Given the description of an element on the screen output the (x, y) to click on. 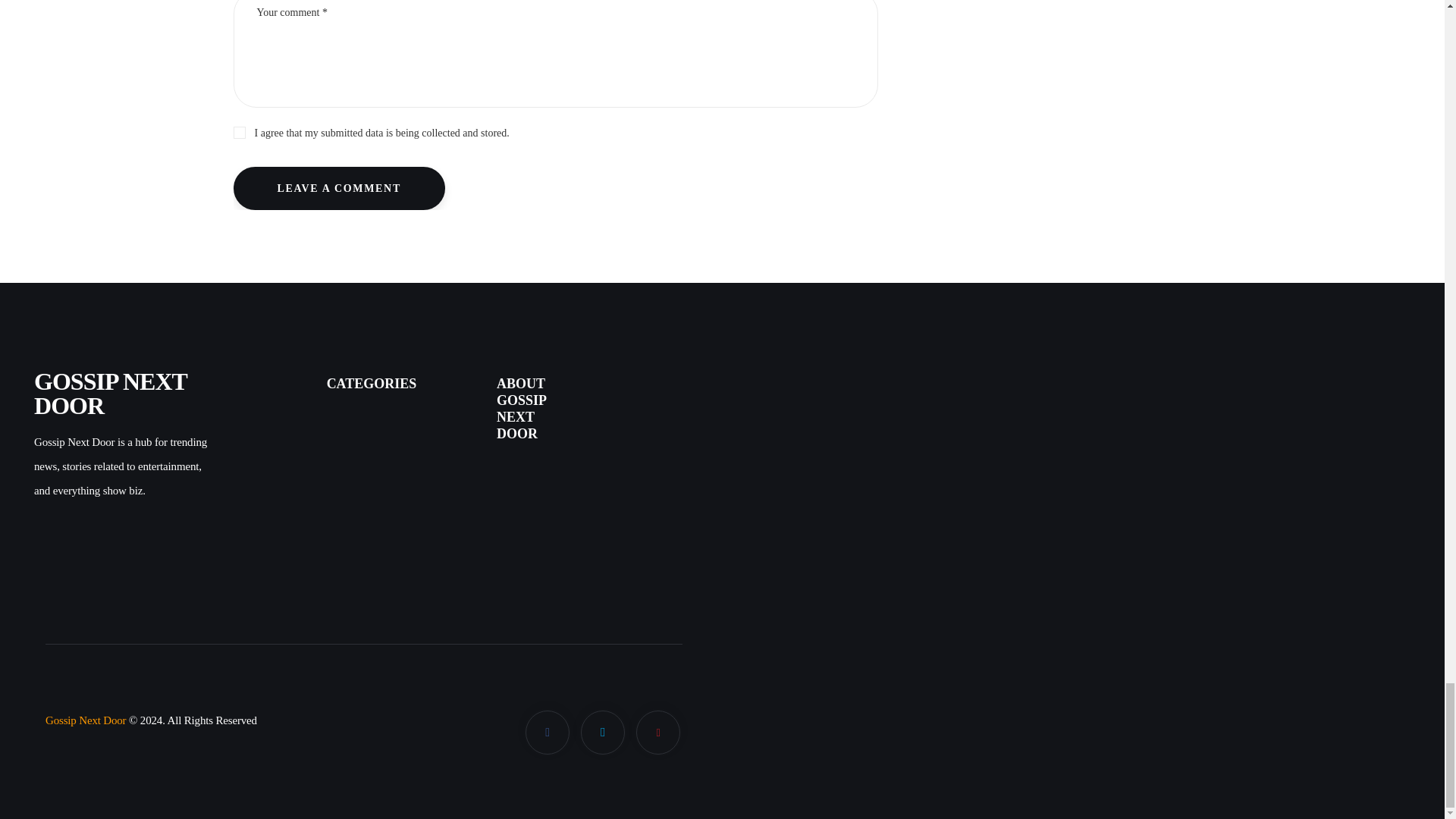
1 (554, 130)
